Given the description of an element on the screen output the (x, y) to click on. 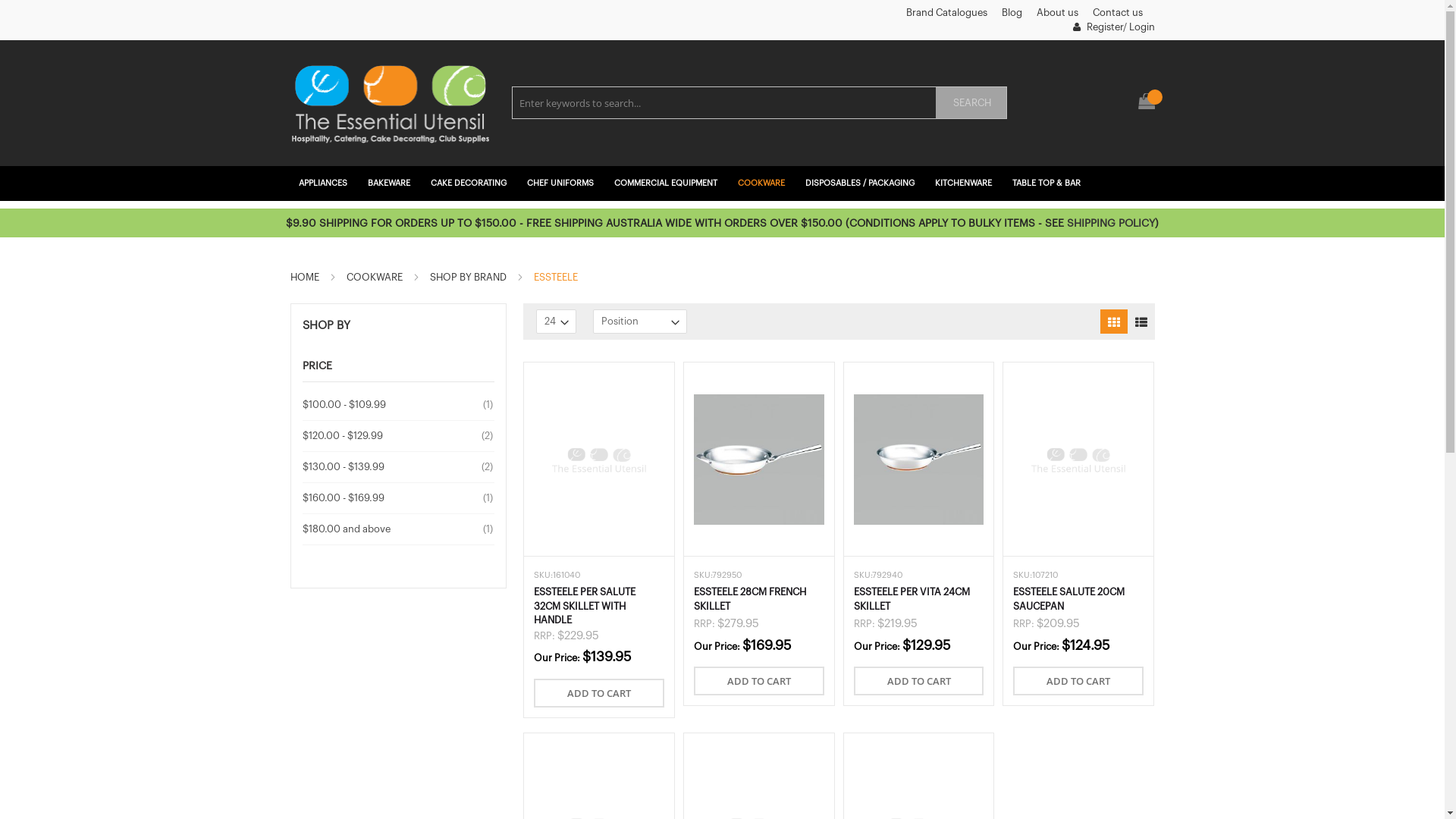
ESSTEELE PER VITA 24CM SKILLET Element type: text (911, 598)
Contact us Element type: text (1117, 12)
ESSTEELE PER SALUTE 32CM SKILLET WITH HANDLE Element type: text (584, 605)
ADD TO CART Element type: text (758, 680)
$180.00 and above
1
item Element type: text (398, 529)
Grid Element type: hover (1112, 321)
CAKE DECORATING Element type: text (469, 183)
$120.00 - $129.99
2
item Element type: text (398, 435)
$130.00 - $139.99
2
item Element type: text (398, 466)
COOKWARE Element type: text (374, 277)
ESSTEELE SALUTE 20CM SAUCEPAN Element type: text (1068, 598)
Blog Element type: text (1011, 12)
Brand Catalogues Element type: text (945, 12)
About us Element type: text (1056, 12)
TABLE TOP & BAR Element type: text (1048, 183)
COMMERCIAL EQUIPMENT Element type: text (666, 183)
DISPOSABLES / PACKAGING Element type: text (860, 183)
ADD TO CART Element type: text (598, 692)
ESSTEELE 28CM FRENCH SKILLET Element type: text (749, 598)
Register Element type: text (1097, 26)
HOME Element type: text (304, 277)
$100.00 - $109.99
1
item Element type: text (398, 404)
SHIPPING POLICY Element type: text (1110, 223)
List Element type: hover (1140, 321)
ADD TO CART Element type: text (1078, 680)
Login Element type: text (1141, 26)
CHEF UNIFORMS Element type: text (561, 183)
BAKEWARE Element type: text (390, 183)
COOKWARE Element type: text (763, 183)
APPLIANCES Element type: text (323, 183)
SHOP BY BRAND Element type: text (468, 277)
$160.00 - $169.99
1
item Element type: text (398, 498)
SEARCH Element type: text (970, 103)
KITCHENWARE Element type: text (965, 183)
ADD TO CART Element type: text (918, 680)
